Given the description of an element on the screen output the (x, y) to click on. 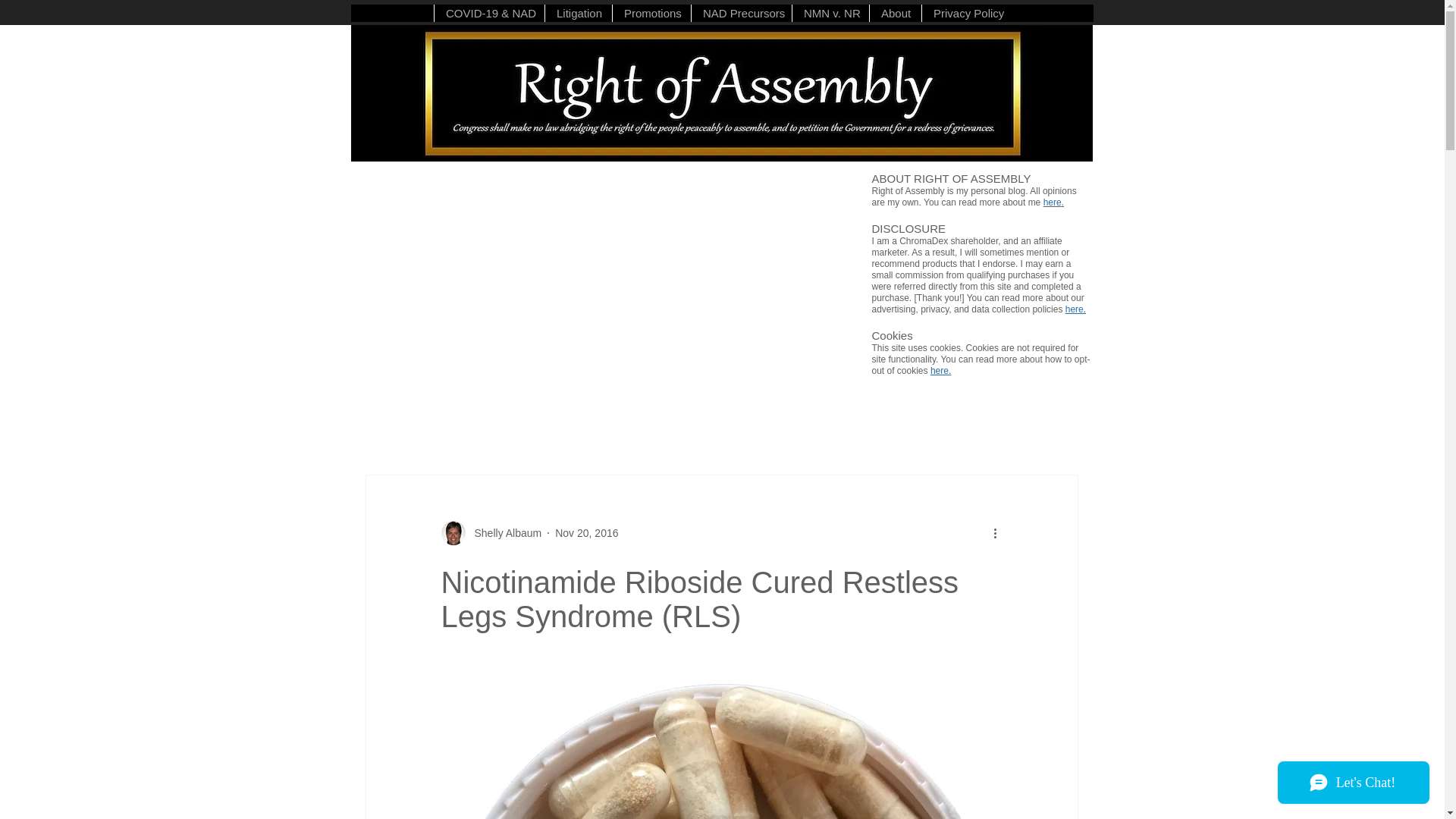
Advertisement for Tru Niagen (730, 284)
Shelly Albaum (503, 532)
Nov 20, 2016 (585, 532)
here. (1075, 308)
here. (940, 370)
NAD Precursors (741, 13)
Litigation (577, 13)
NMN v. NR (830, 13)
About (895, 13)
here. (1053, 202)
Advertisement for Tru Niagen (484, 284)
Privacy Policy (965, 13)
Promotions (650, 13)
